Given the description of an element on the screen output the (x, y) to click on. 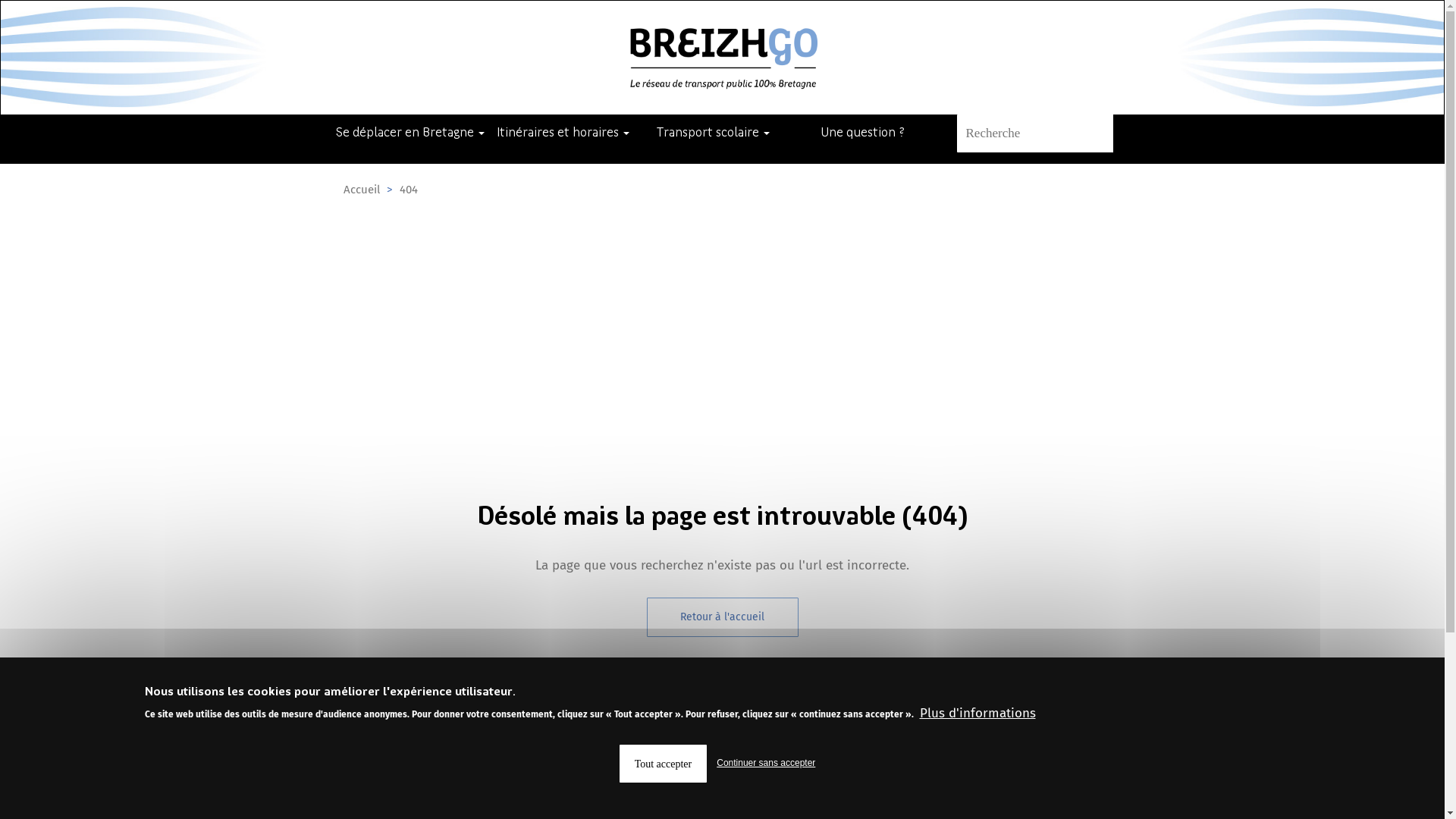
Transport scolaire Element type: text (712, 133)
Recherche Element type: text (1104, 133)
Tout accepter Element type: text (663, 764)
Une question ? Element type: text (862, 133)
Horaires Cars BreizhGo au format PDF Element type: text (651, 733)
Aller au contenu principal Element type: text (0, 0)
404 Element type: text (407, 189)
Horaires des lignes Element type: text (651, 804)
Une question ? Element type: text (1026, 709)
Plus d'informations Element type: text (977, 714)
Ille-et-Vilaine Element type: text (856, 804)
Continuer sans accepter Element type: text (765, 762)
Accueil Element type: text (360, 189)
Transport scolaire Element type: text (857, 709)
